Given the description of an element on the screen output the (x, y) to click on. 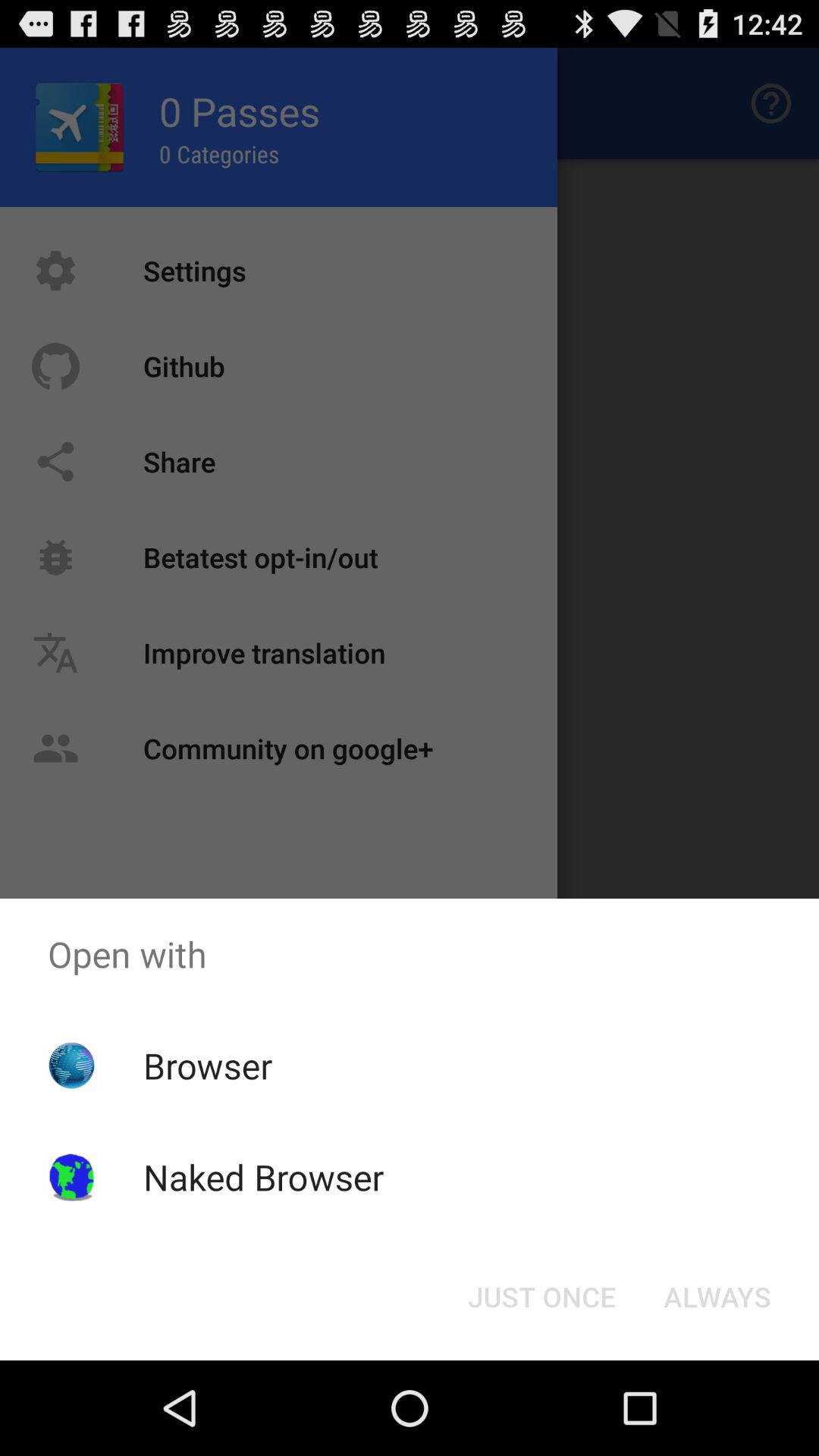
click the icon next to just once button (717, 1296)
